Given the description of an element on the screen output the (x, y) to click on. 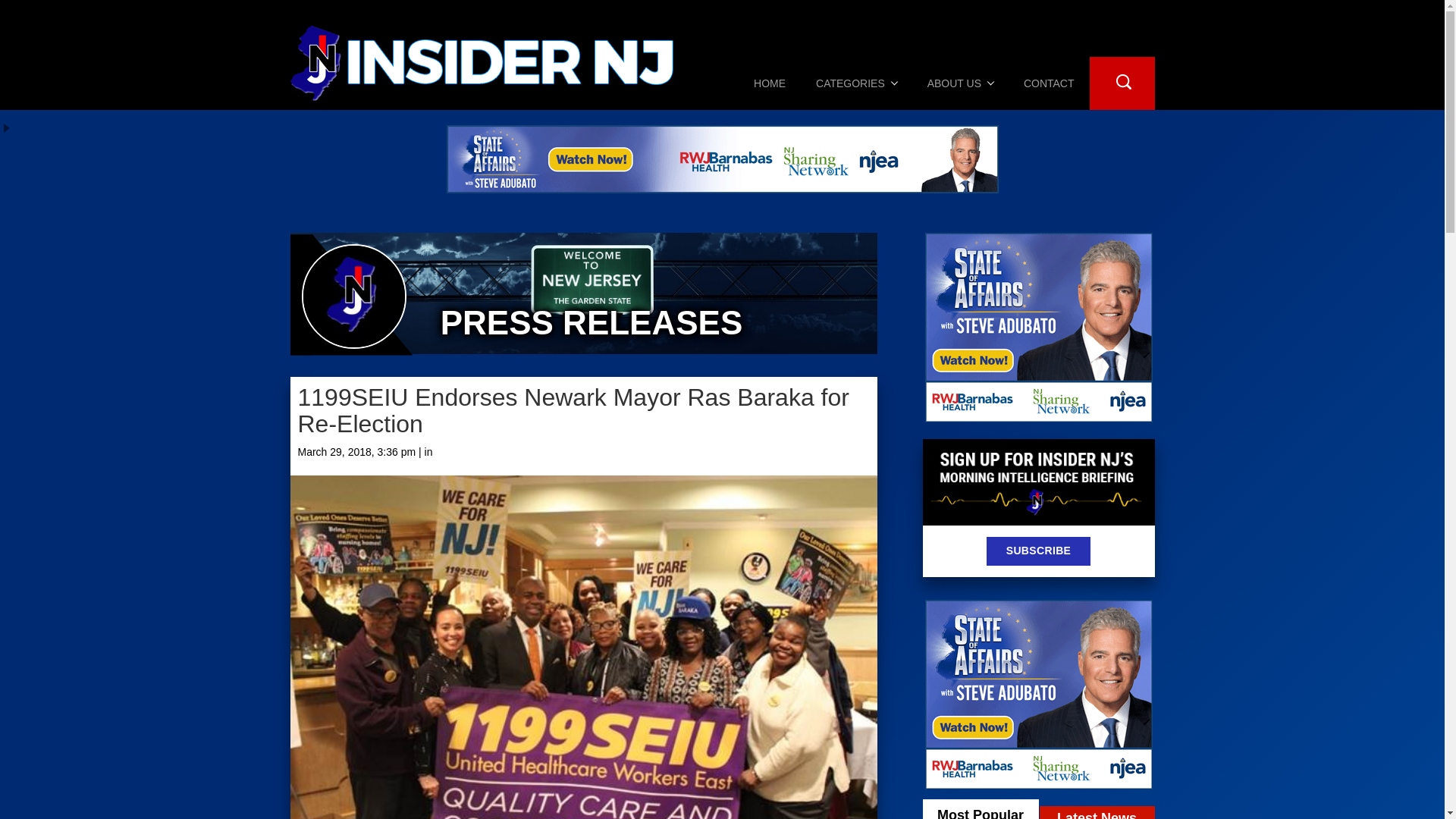
HOME (769, 82)
Latest News (1096, 812)
About Us (960, 82)
Most Popular (979, 809)
CONTACT (1049, 82)
SUBSCRIBE (1038, 551)
Categories (856, 82)
CATEGORIES (856, 82)
ABOUT US (960, 82)
Contact (1049, 82)
Home (769, 82)
